Given the description of an element on the screen output the (x, y) to click on. 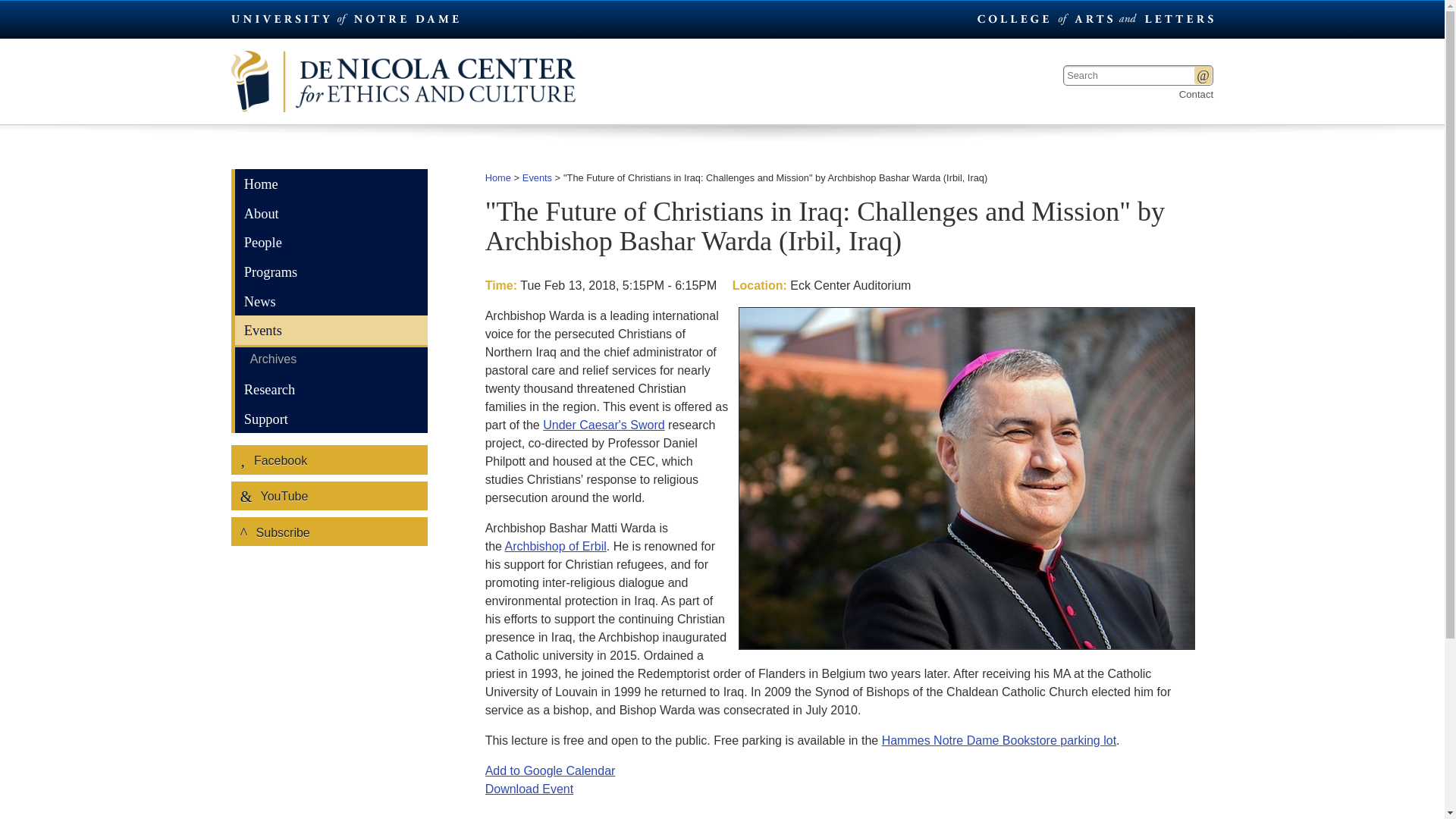
Under Caesar's Sword (603, 424)
Search (1202, 75)
Subscribe (329, 531)
Home (497, 177)
University Notre Dame (345, 18)
People (331, 242)
Contact (1195, 93)
Archives (331, 360)
Hammes Notre Dame Bookstore parking lot (999, 739)
YouTube (329, 495)
University Relations (1093, 18)
Archbishop of Erbil (556, 545)
Add to Google Calendar (549, 770)
Research (331, 389)
Support (331, 419)
